Given the description of an element on the screen output the (x, y) to click on. 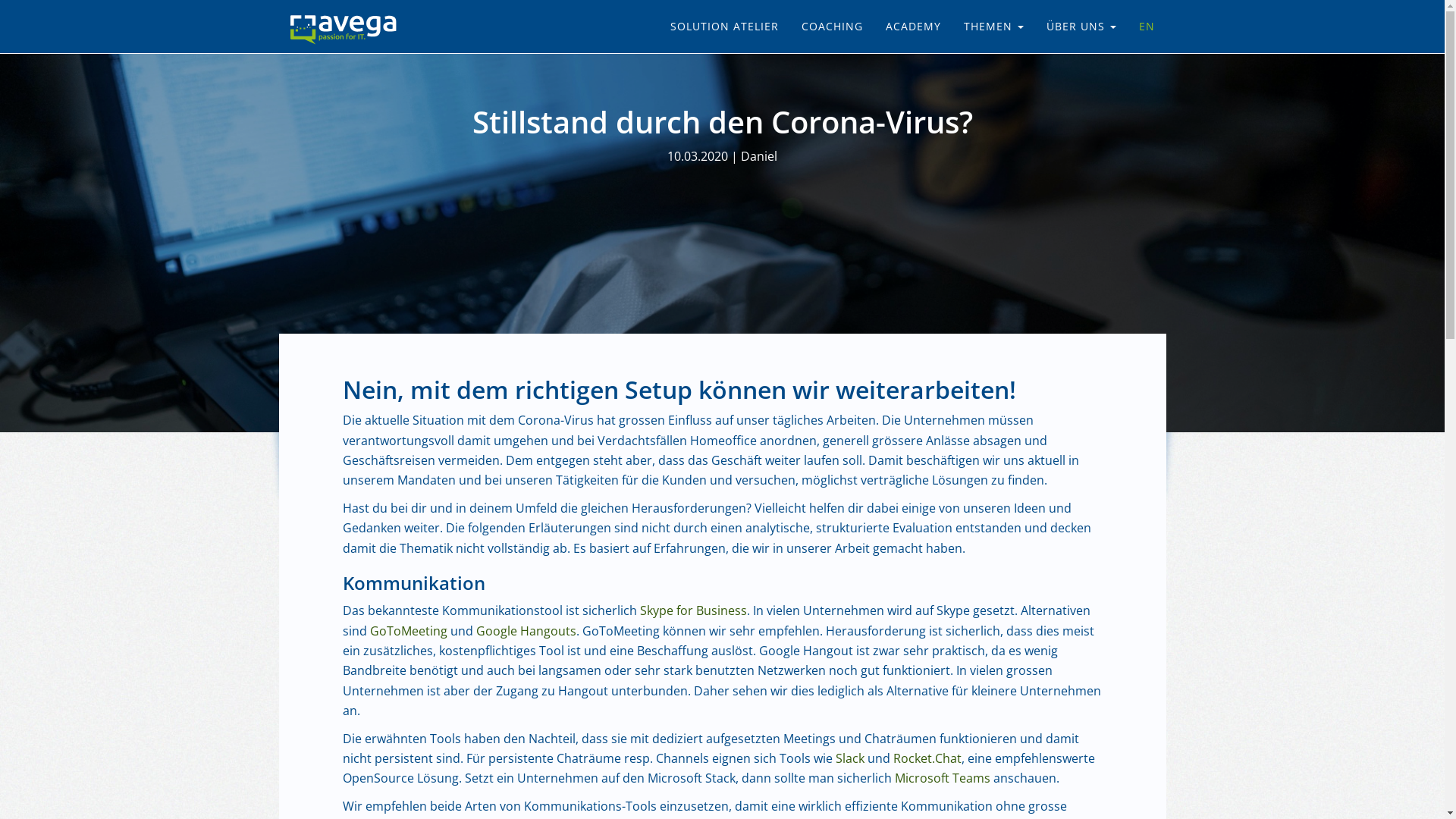
Skype for Business Element type: text (693, 610)
Rocket.Chat Element type: text (927, 757)
Google Hangouts Element type: text (526, 630)
COACHING Element type: text (832, 26)
Slack Element type: text (849, 757)
ACADEMY Element type: text (912, 26)
SOLUTION ATELIER Element type: text (723, 26)
Microsoft Teams Element type: text (942, 777)
EN Element type: text (1145, 26)
GoToMeeting Element type: text (408, 630)
THEMEN Element type: text (993, 26)
